Given the description of an element on the screen output the (x, y) to click on. 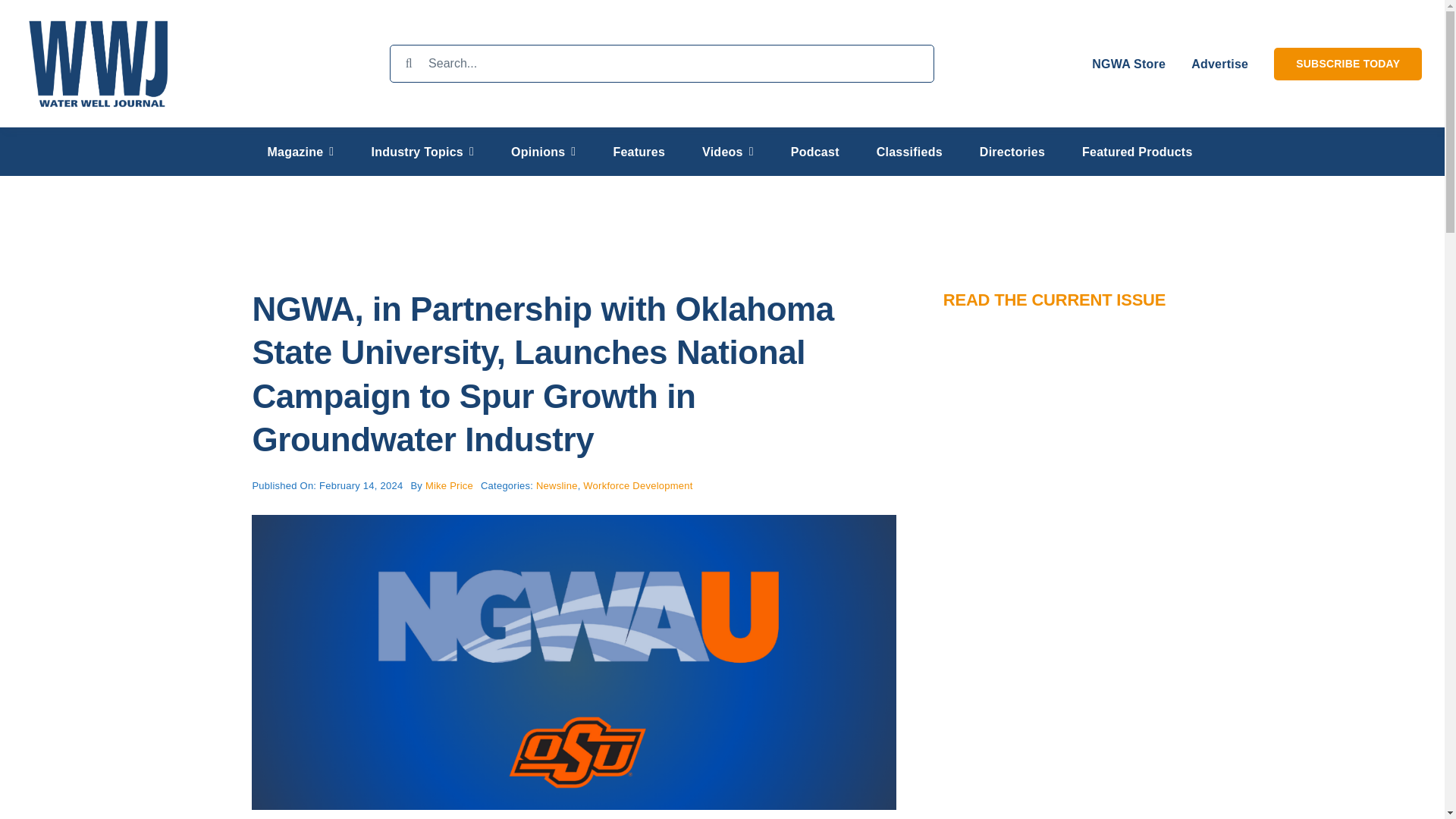
Advertise (1219, 63)
Posts by Mike Price (449, 485)
NGWA Store (1129, 63)
SUBSCRIBE TODAY (1348, 63)
